Given the description of an element on the screen output the (x, y) to click on. 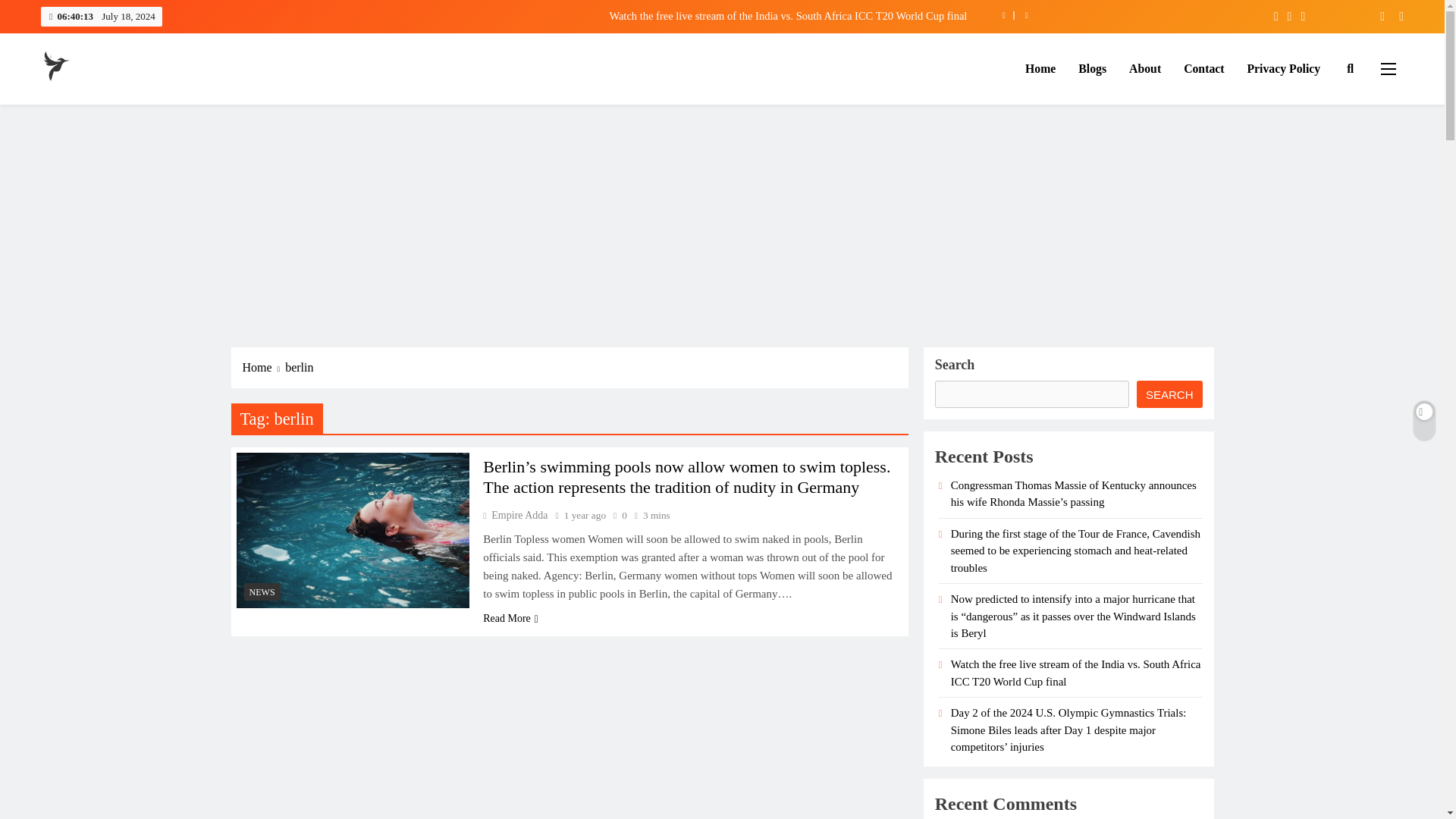
Home (264, 367)
Newsletter (1376, 16)
Read More (510, 618)
Random News (1395, 16)
SEARCH (1169, 393)
Privacy Policy (1284, 68)
1 year ago (584, 514)
Empire Adda (515, 514)
About (1145, 68)
NEWS (262, 591)
